Given the description of an element on the screen output the (x, y) to click on. 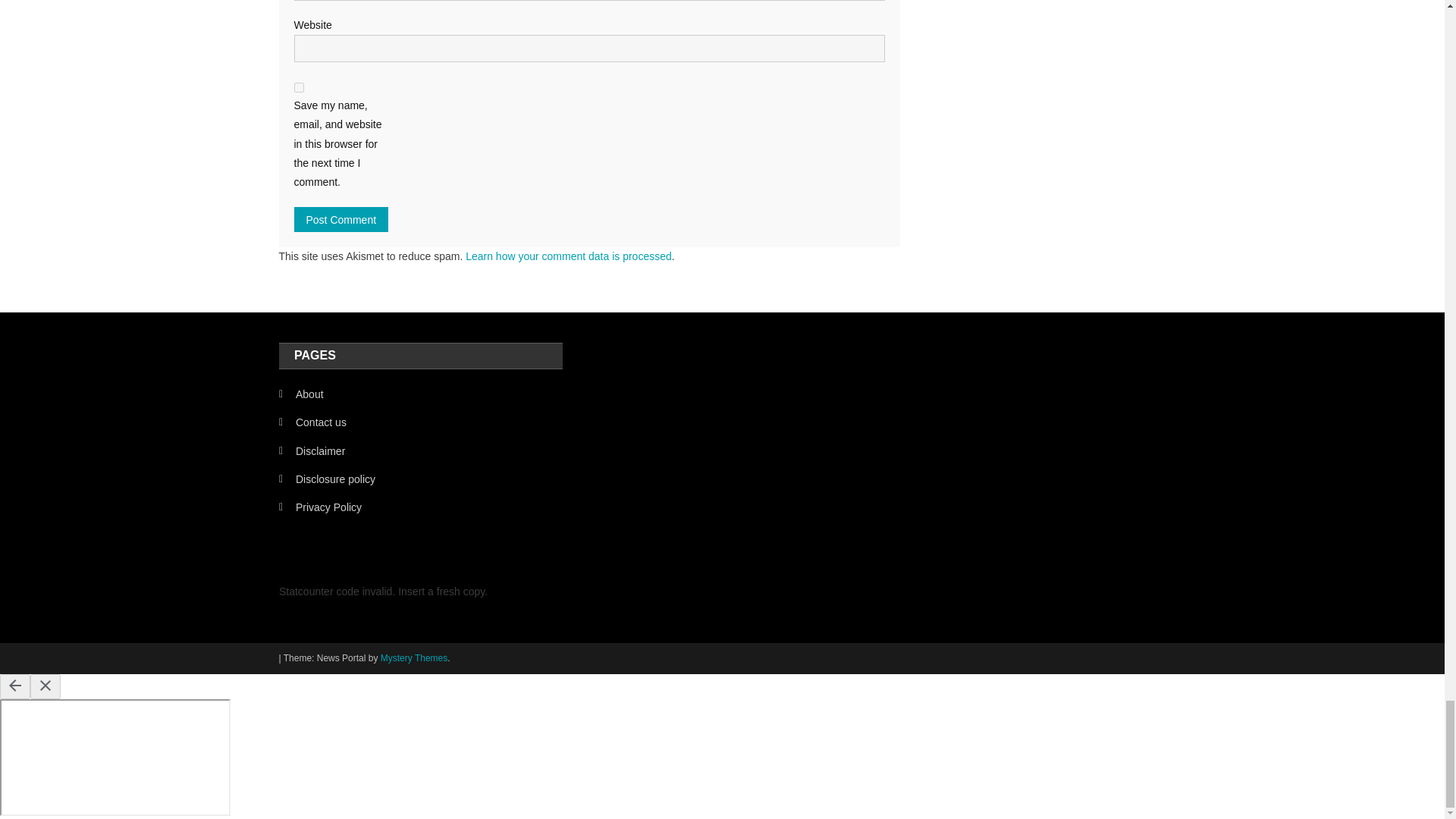
yes (299, 87)
Post Comment (341, 219)
Post Comment (341, 219)
